Given the description of an element on the screen output the (x, y) to click on. 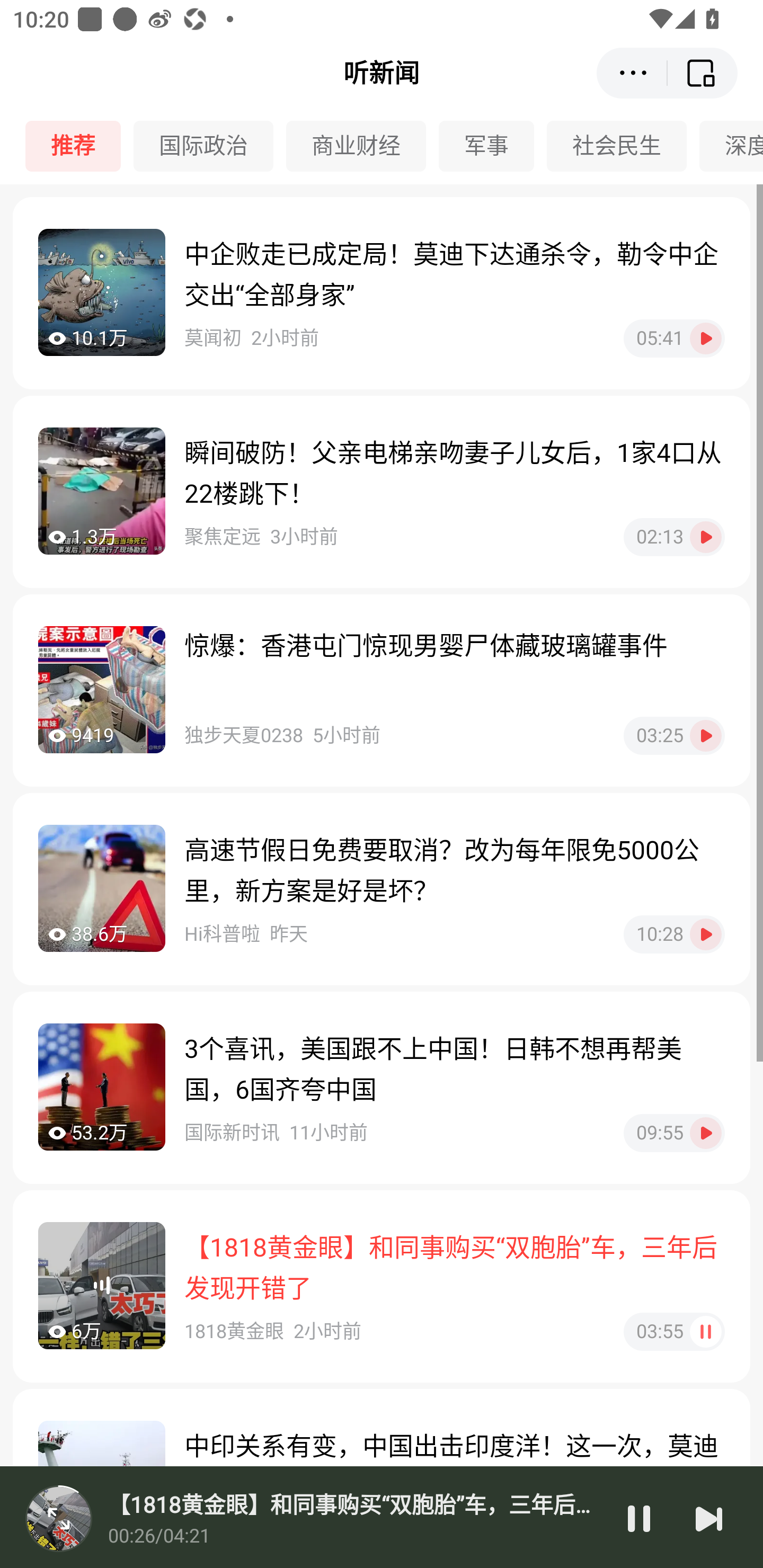
更多 (631, 72)
返回 (702, 72)
推荐 (79, 146)
国际政治 (209, 146)
商业财经 (362, 146)
军事 (492, 146)
社会民生 (623, 146)
10.1万 中企败走已成定局！莫迪下达通杀令，勒令中企交出“全部身家” 莫闻初2小时前 05:41 (381, 292)
05:41 (673, 338)
1.3万 瞬间破防！父亲电梯亲吻妻子儿女后，1家4口从22楼跳下！ 聚焦定远3小时前 02:13 (381, 491)
02:13 (673, 536)
9419 惊爆：香港屯门惊现男婴尸体藏玻璃罐事件 独步天夏02385小时前 03:25 (381, 690)
03:25 (673, 735)
10:28 (673, 934)
09:55 (673, 1132)
6万 【1818黄金眼】和同事购买“双胞胎”车，三年后发现开错了 1818黄金眼2小时前 03:55 (381, 1286)
03:55 (673, 1331)
41.1万 中印关系有变，中国出击印度洋！这一次，莫迪肯定挡不住了！ 广灵反邪教9小时前 08:46 (381, 1478)
暂停 (638, 1518)
下一篇 (708, 1518)
